Given the description of an element on the screen output the (x, y) to click on. 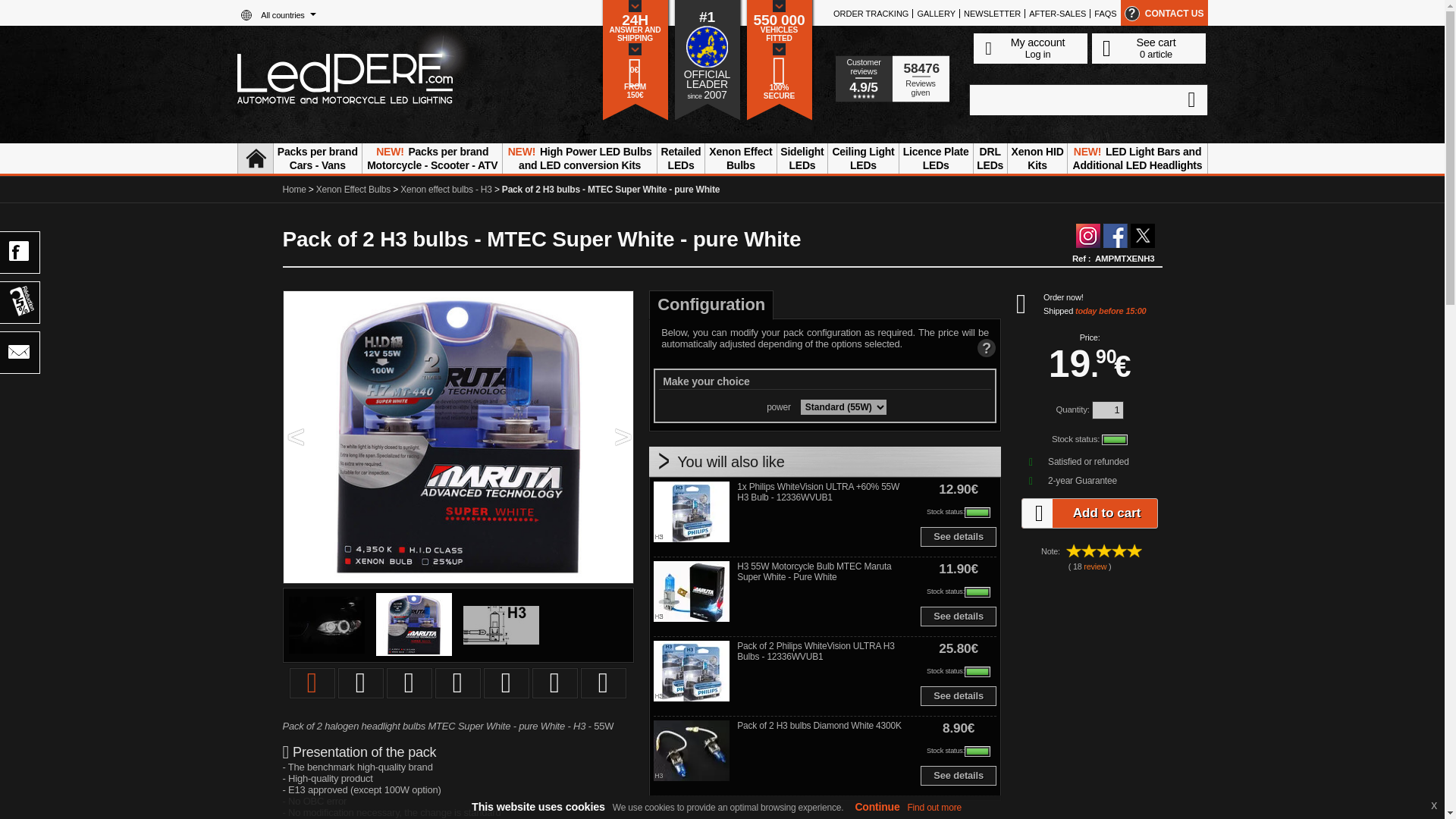
1 (1108, 410)
This product is in stock. (976, 671)
Search for a product (1088, 100)
0 article (1155, 53)
Follow LedPerf on Instagram (1087, 235)
Share on Facebook (1114, 235)
NEWSLETTER (992, 13)
Share on Twitter (1141, 235)
This product is in stock. (976, 511)
ORDER TRACKING (870, 13)
See cart (1155, 42)
 Pack of 2 Philips WhiteVision ULTRA H3 Bulbs - 12336WVUB1  (691, 672)
AFTER-SALES (1057, 13)
MTEC Super White H3 gas-charged xenon bulb (500, 625)
